Given the description of an element on the screen output the (x, y) to click on. 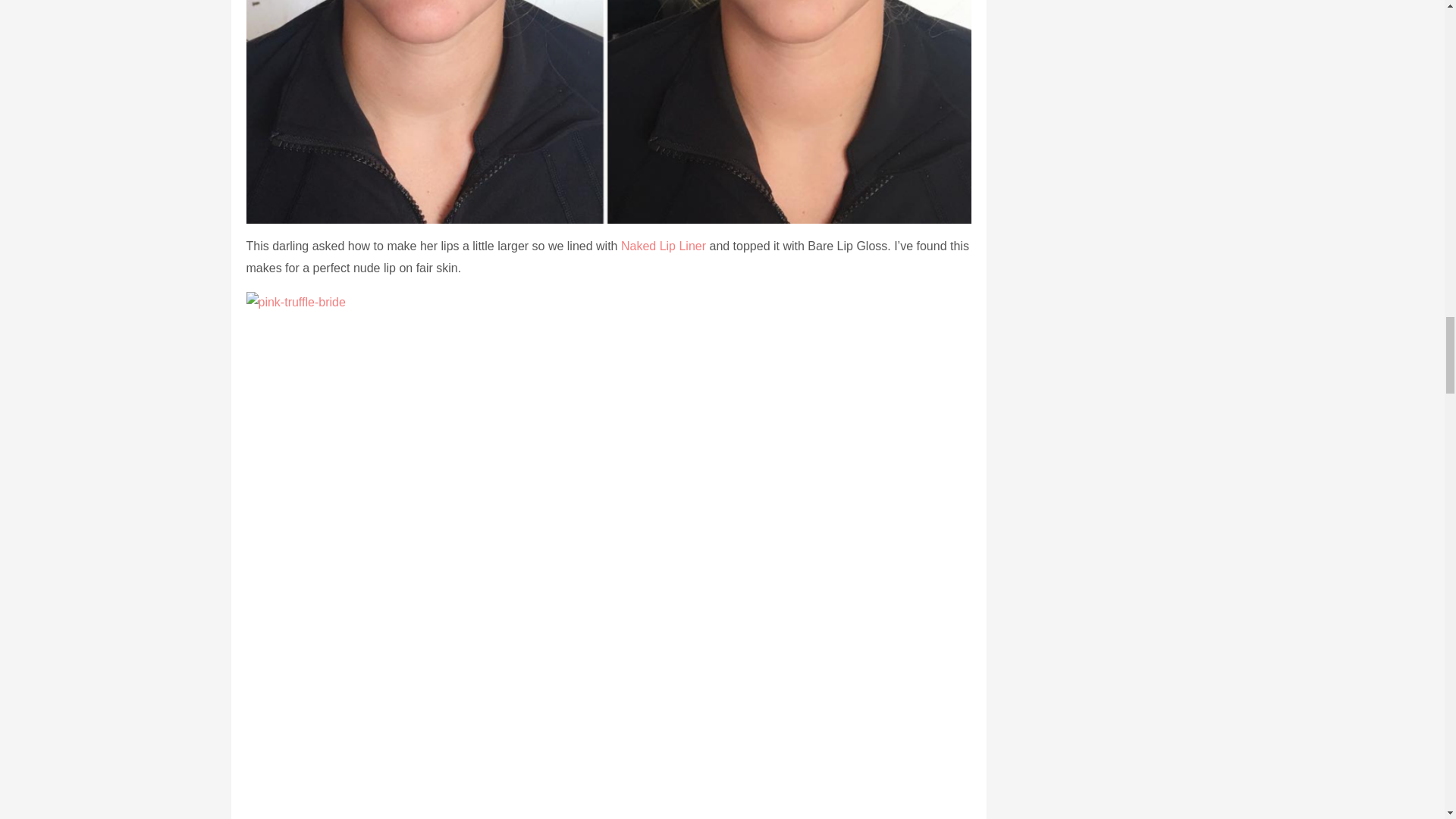
Naked Lip Liner (663, 245)
